Given the description of an element on the screen output the (x, y) to click on. 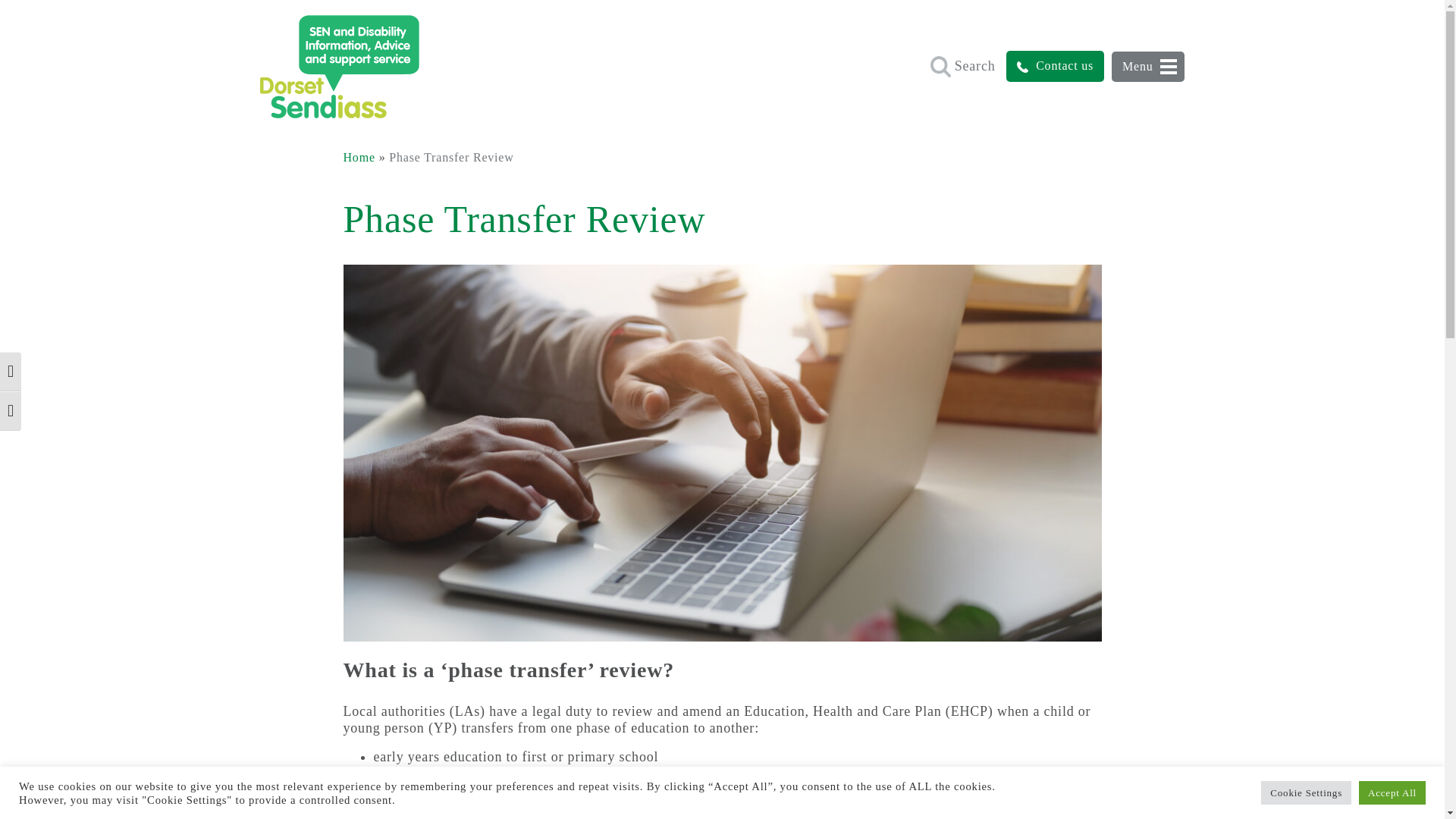
Phase Transfer Review (450, 156)
Menu (1148, 66)
Home (358, 156)
Search (964, 64)
Contact us (1054, 65)
